Given the description of an element on the screen output the (x, y) to click on. 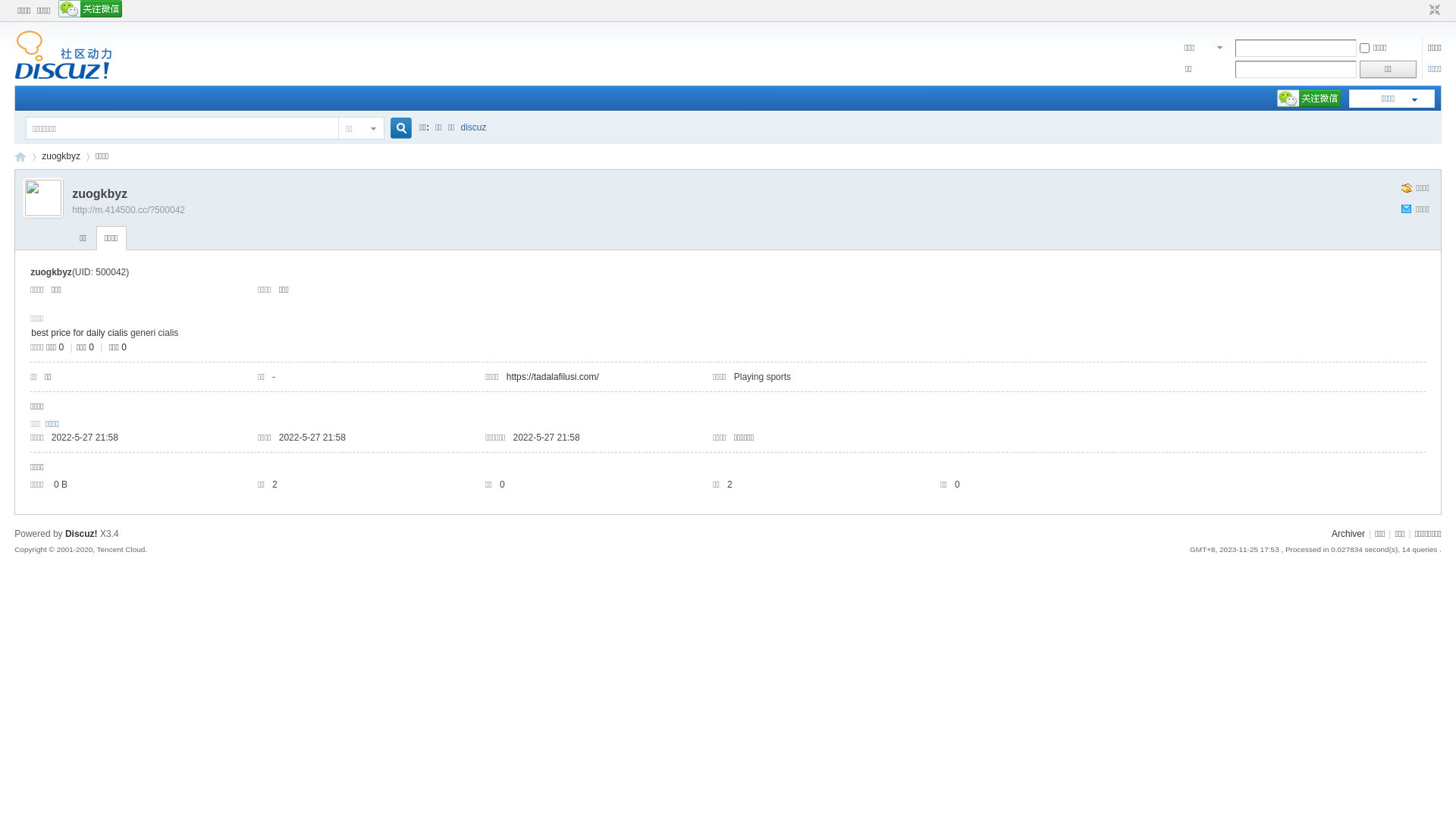
true Element type: text (395, 128)
best price for daily cialis Element type: text (79, 332)
Archiver Element type: text (1348, 533)
http://m.414500.cc/?500042 Element type: text (128, 209)
https://tadalafilusi.com/ Element type: text (552, 376)
zuogkbyz Element type: text (60, 156)
Discuz! Element type: text (81, 533)
discuz Element type: text (473, 127)
